Given the description of an element on the screen output the (x, y) to click on. 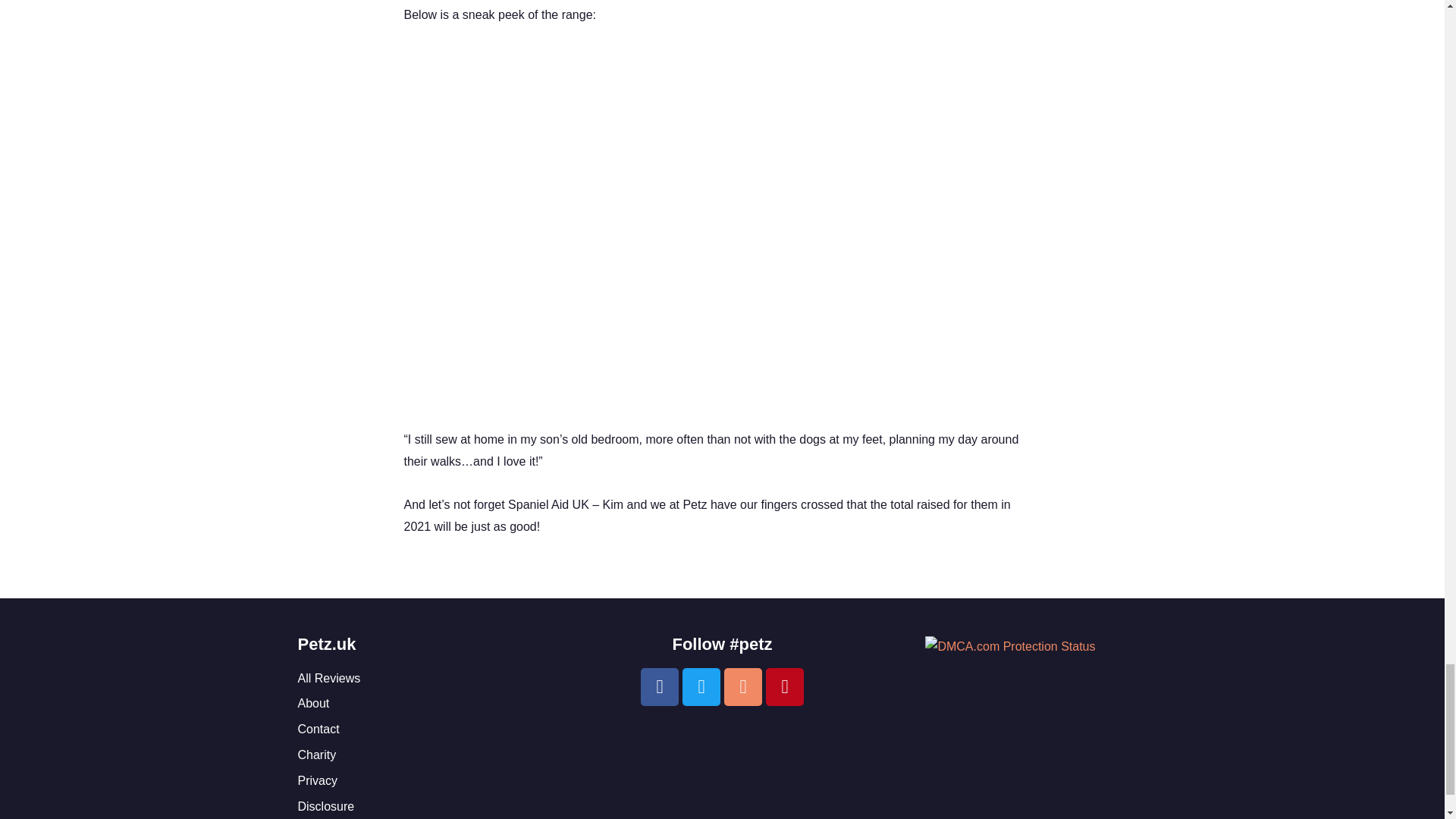
About (433, 703)
Charity (433, 755)
All Reviews (433, 679)
Disclosure (433, 807)
DMCA.com Protection Status (1009, 645)
Privacy (433, 781)
Contact (433, 730)
